Given the description of an element on the screen output the (x, y) to click on. 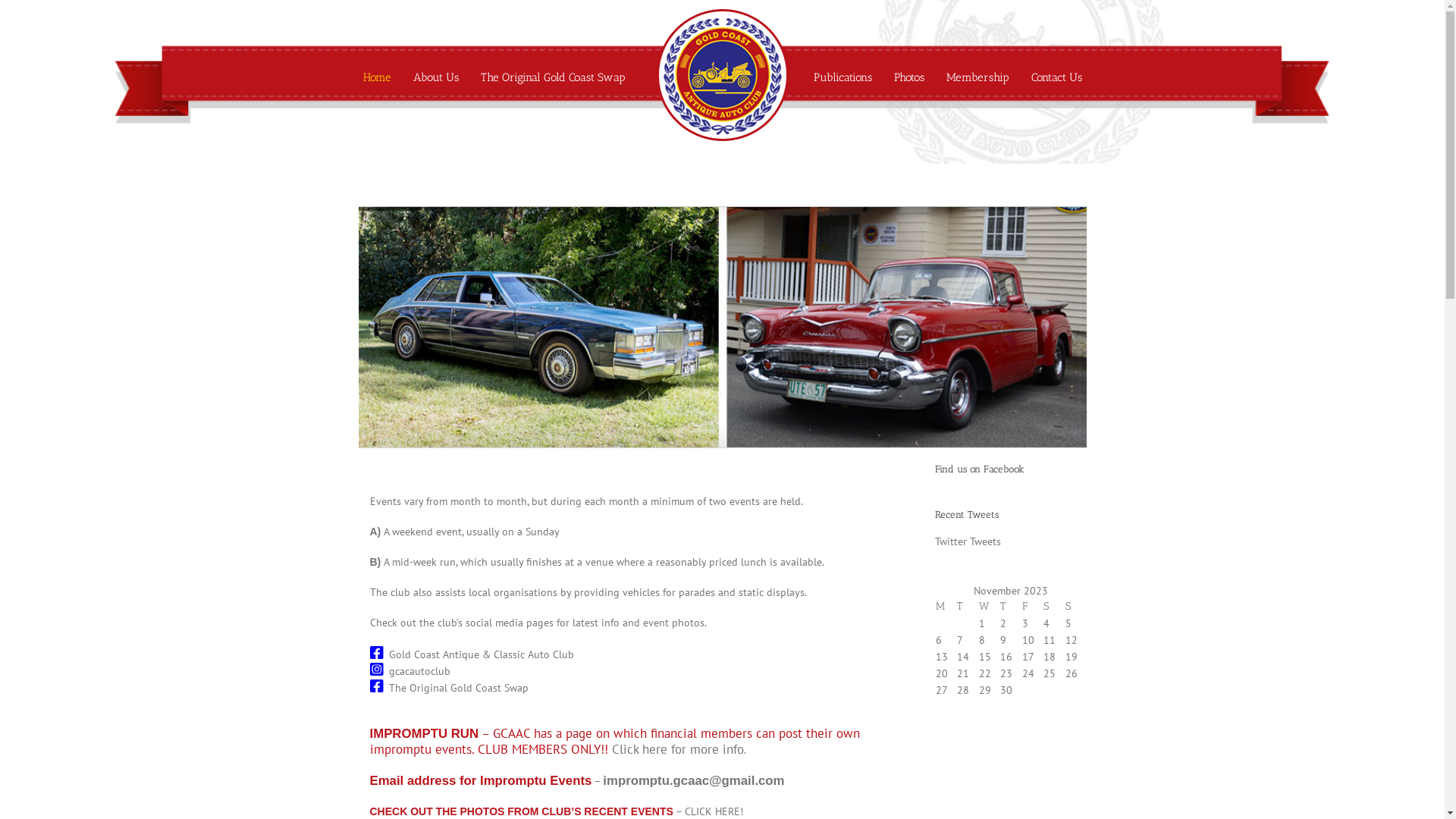
About Us Element type: text (435, 77)
Click here for more info Element type: text (677, 748)
The Original Gold Coast Swap Element type: text (457, 687)
Contact Us Element type: text (1056, 77)
CLICK HERE! Element type: text (713, 811)
The Original Gold Coast Swap Element type: text (552, 77)
Logo Element type: text (719, 134)
Publications Element type: text (841, 77)
Membership Element type: text (977, 77)
Gold Coast Antique & Classic Auto Club Element type: text (480, 654)
Photos Element type: text (908, 77)
Twitter Tweets Element type: text (967, 541)
impromptu.gcaac@gmail.com Element type: text (693, 780)
Home Element type: text (376, 77)
gcacautoclub Element type: text (418, 670)
